Given the description of an element on the screen output the (x, y) to click on. 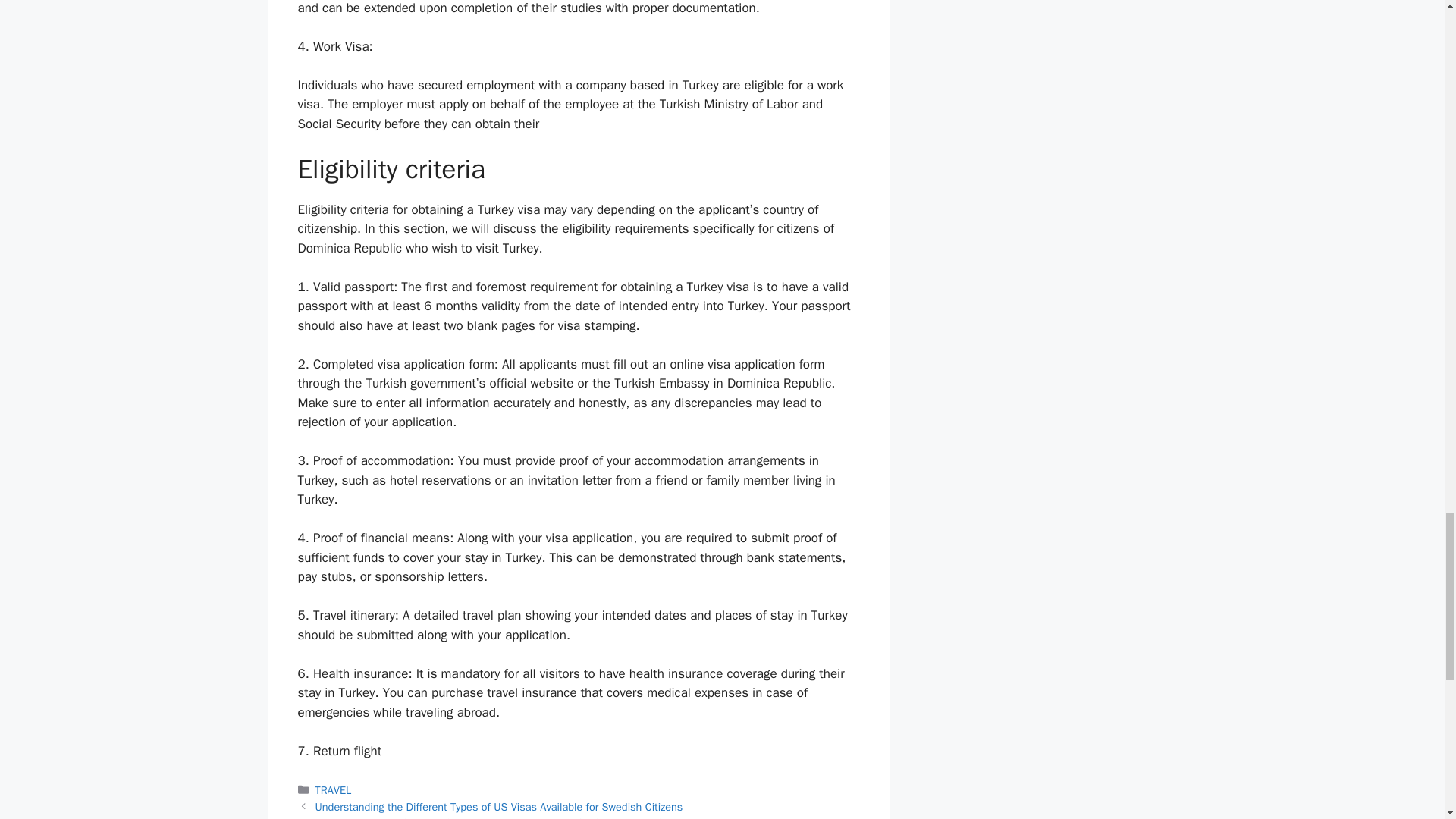
TRAVEL (333, 789)
